Given the description of an element on the screen output the (x, y) to click on. 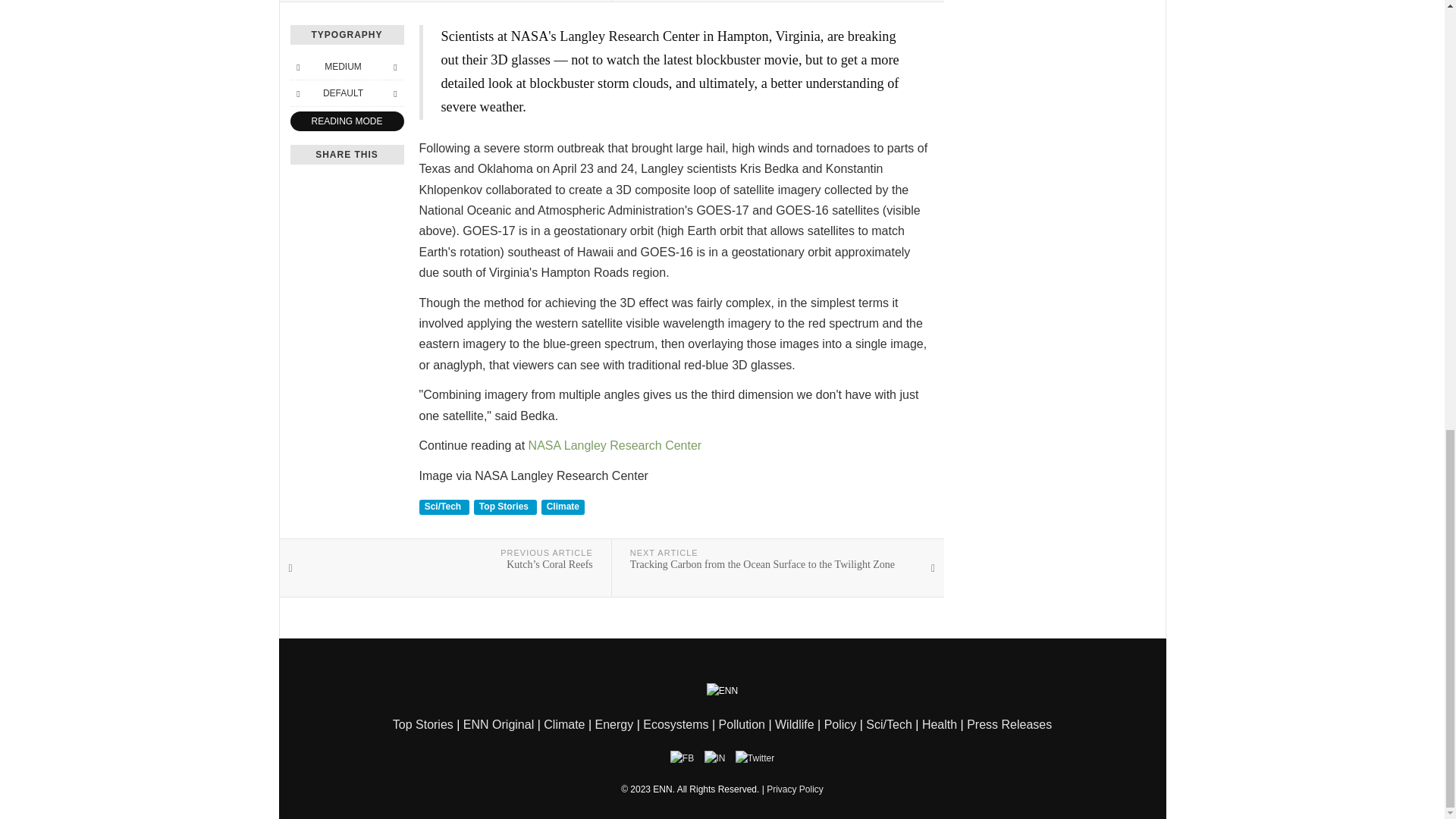
Smaller Font (297, 66)
Next Font Style (395, 93)
Bigger Font (395, 66)
Previous Font Style (297, 93)
Reading Mode (346, 121)
